Given the description of an element on the screen output the (x, y) to click on. 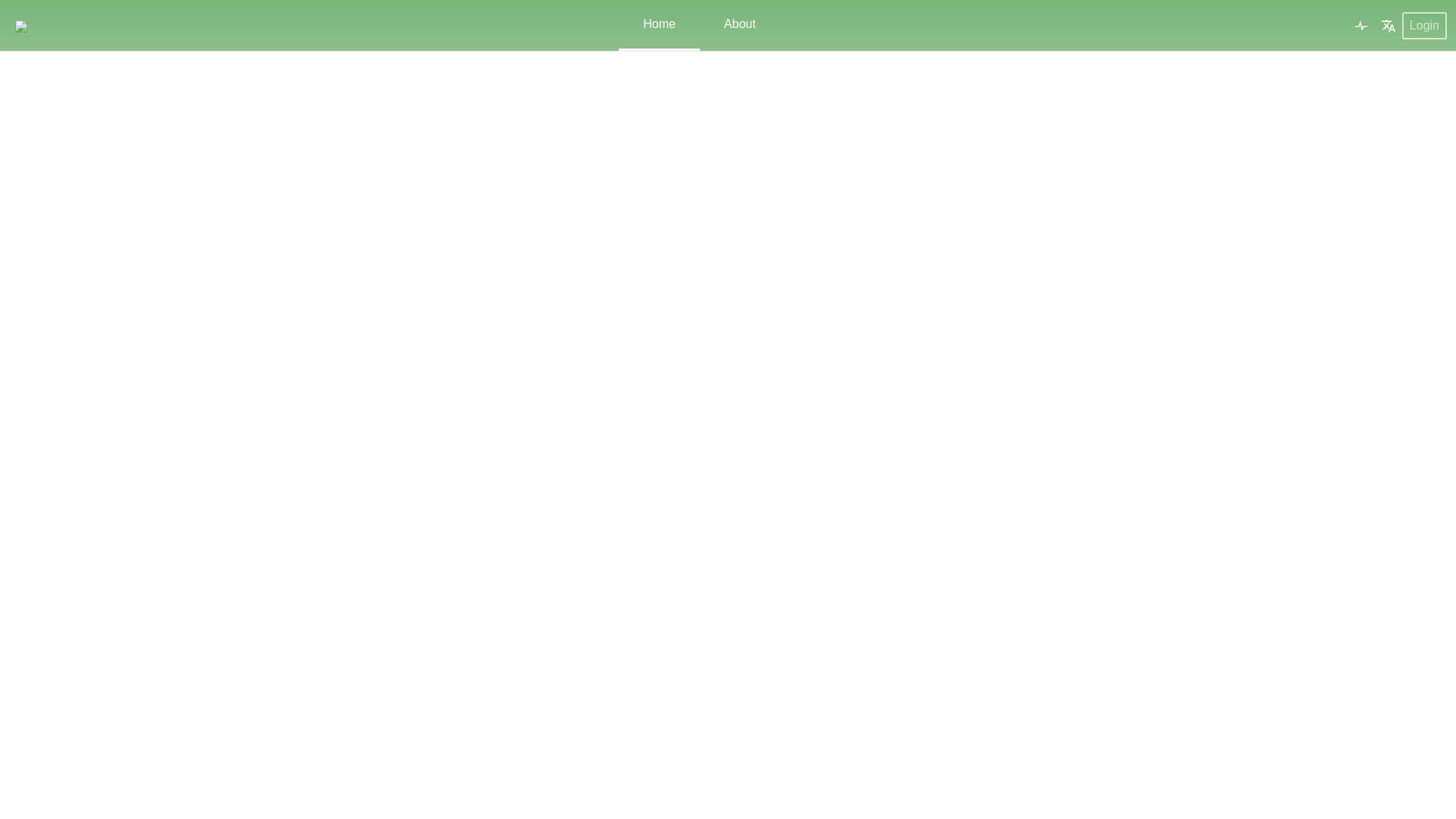
Login (1424, 25)
Home (659, 24)
Select language (1388, 25)
About (740, 24)
Health status (1361, 25)
